Given the description of an element on the screen output the (x, y) to click on. 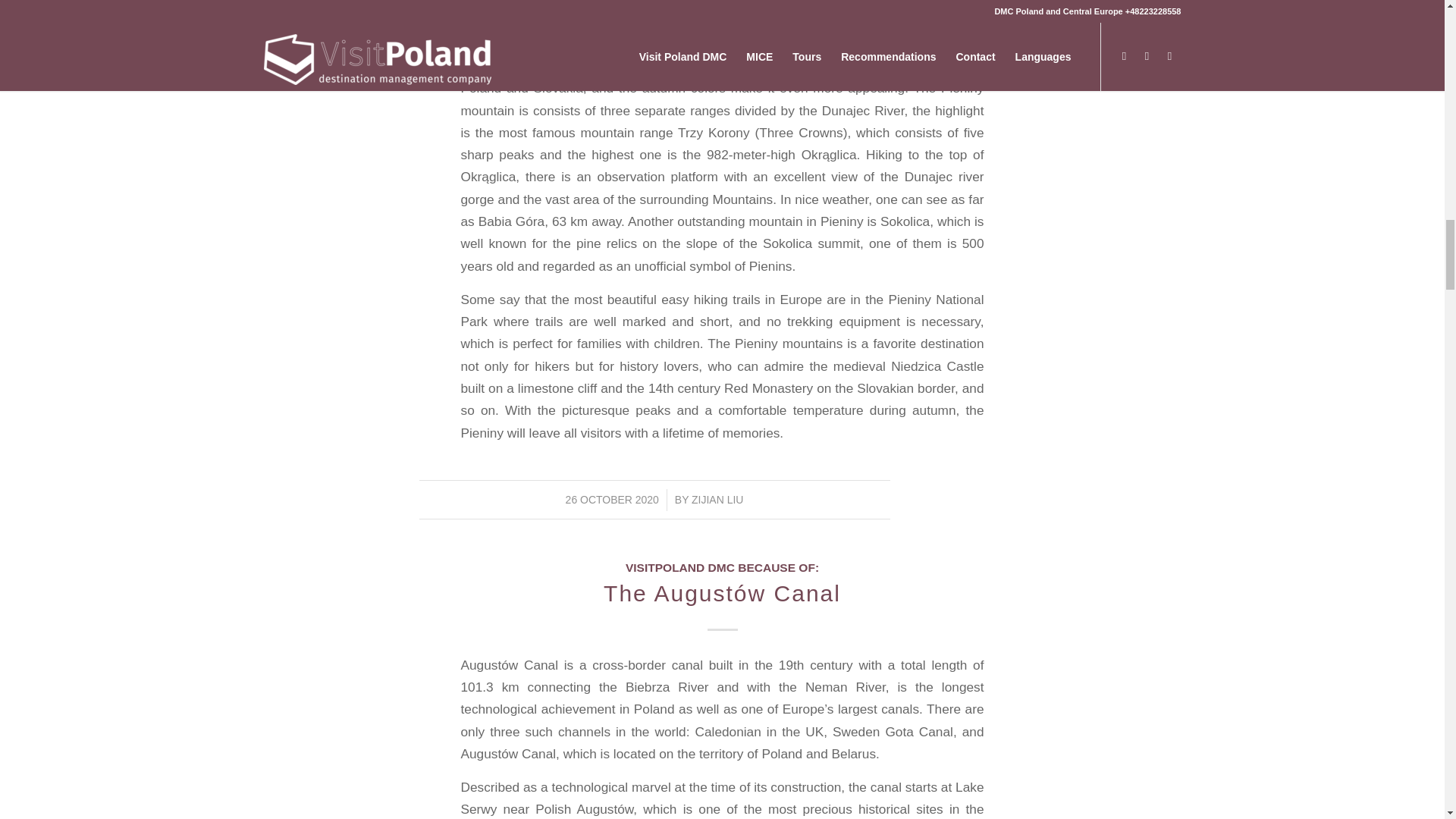
Posts by Zijian Liu (716, 499)
ZIJIAN LIU (716, 499)
VISITPOLAND DMC BECAUSE OF: (722, 567)
